Given the description of an element on the screen output the (x, y) to click on. 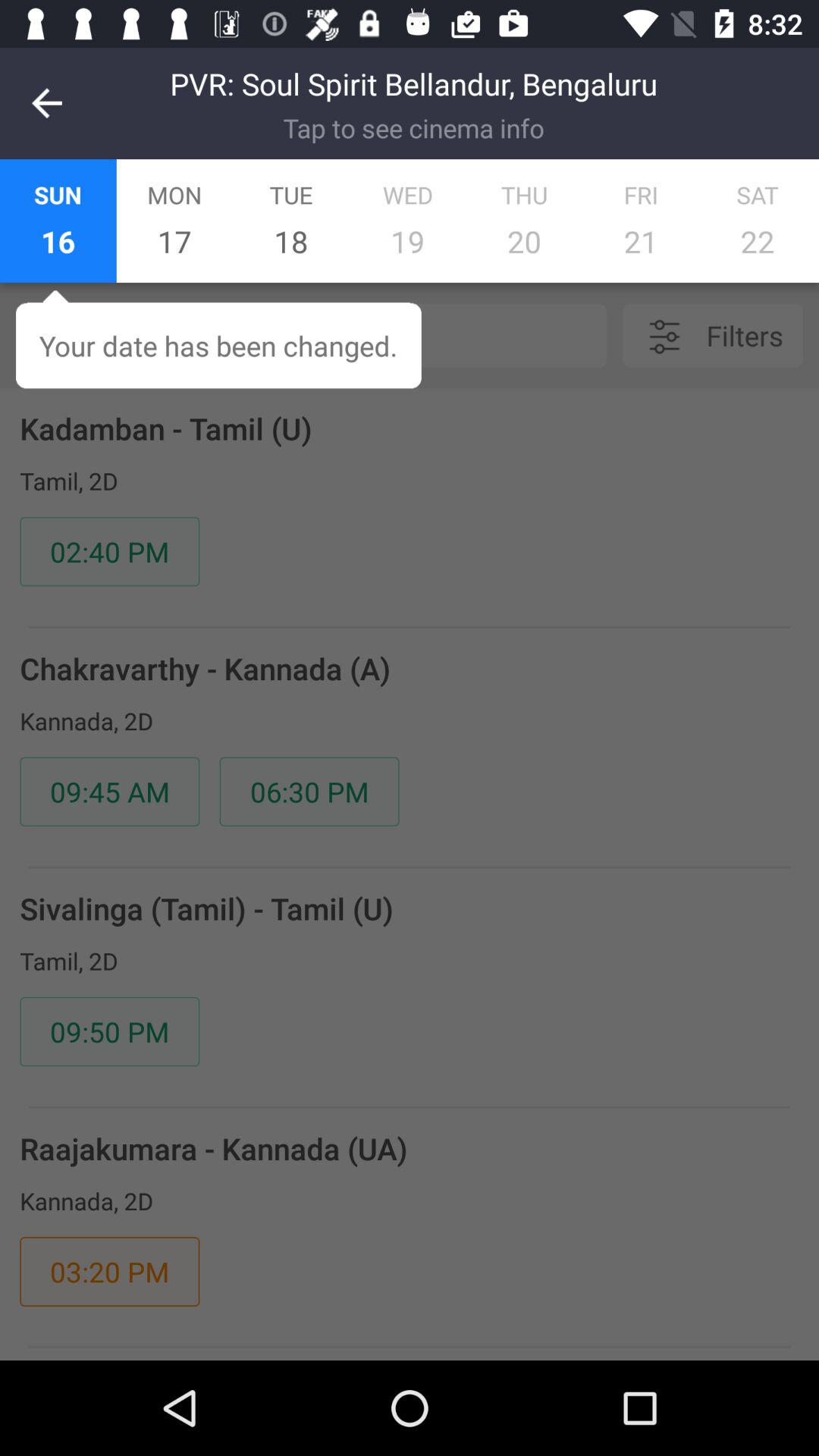
turn off icon above the kadamban - tamil (u) icon (347, 335)
